Given the description of an element on the screen output the (x, y) to click on. 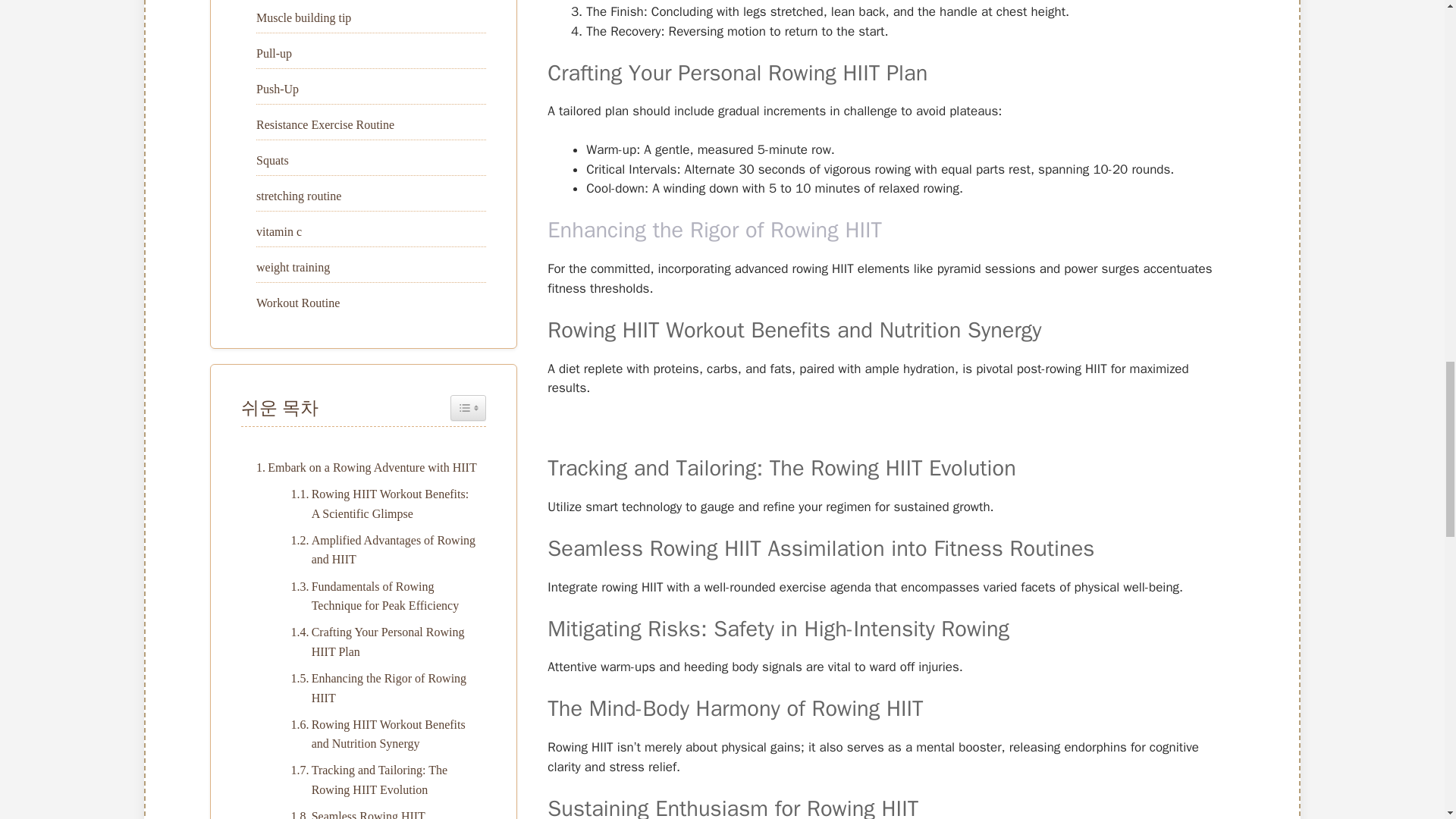
Enhancing the Rigor of Rowing HIIT (714, 230)
